Given the description of an element on the screen output the (x, y) to click on. 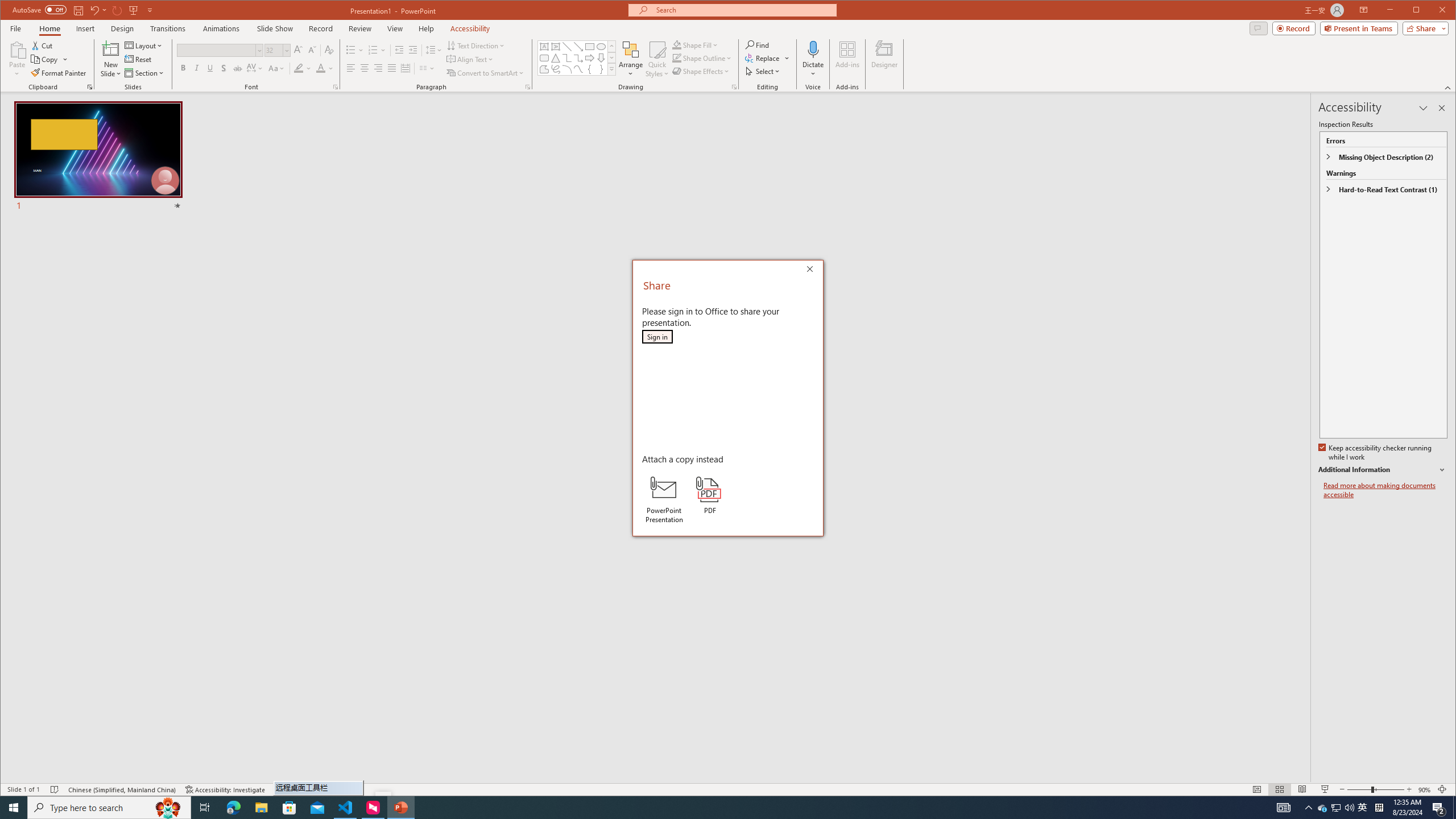
Text Highlight Color Yellow (298, 68)
Character Spacing (254, 68)
Isosceles Triangle (556, 57)
Vertical Text Box (556, 46)
Additional Information (1382, 469)
Decrease Indent (399, 49)
Q2790: 100% (1349, 807)
PDF (709, 495)
